Given the description of an element on the screen output the (x, y) to click on. 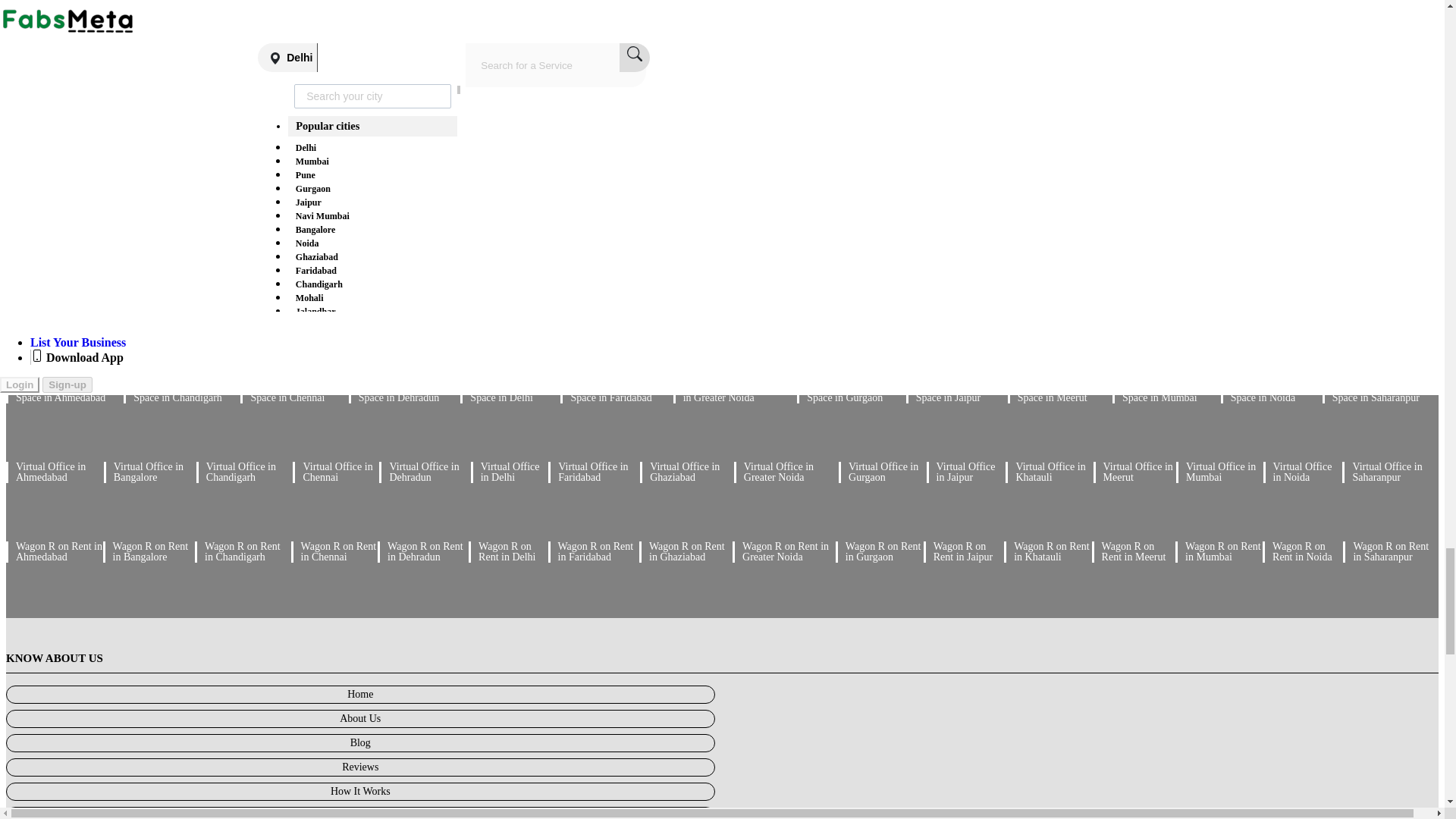
How It Works (359, 791)
About Us (359, 719)
